Given the description of an element on the screen output the (x, y) to click on. 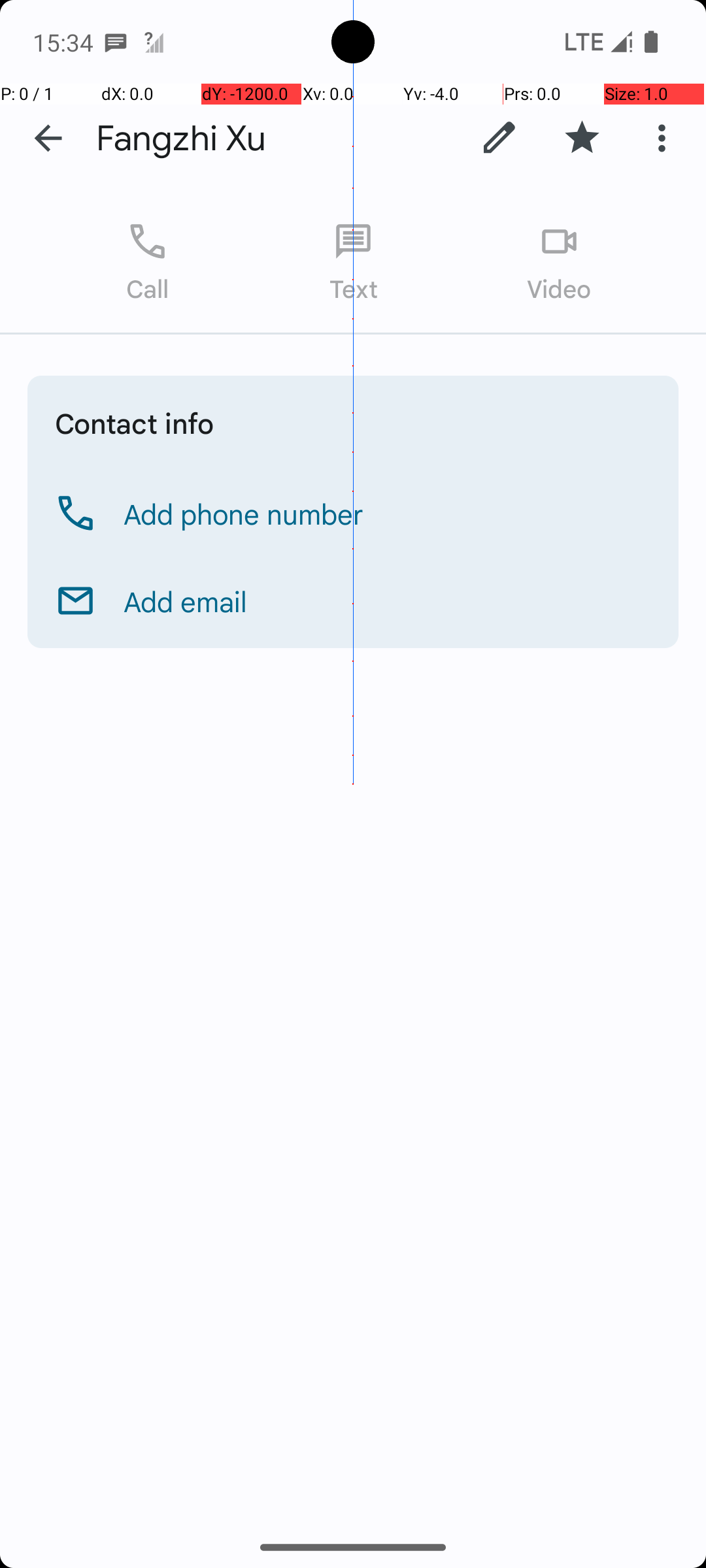
Fangzhi Xu Element type: android.widget.TextView (276, 138)
Edit contact Element type: android.widget.Button (498, 137)
Text Element type: android.widget.TextView (353, 262)
Contact info Element type: android.widget.TextView (134, 422)
Add phone number Element type: android.widget.TextView (243, 513)
Add email Element type: android.widget.TextView (185, 600)
